Given the description of an element on the screen output the (x, y) to click on. 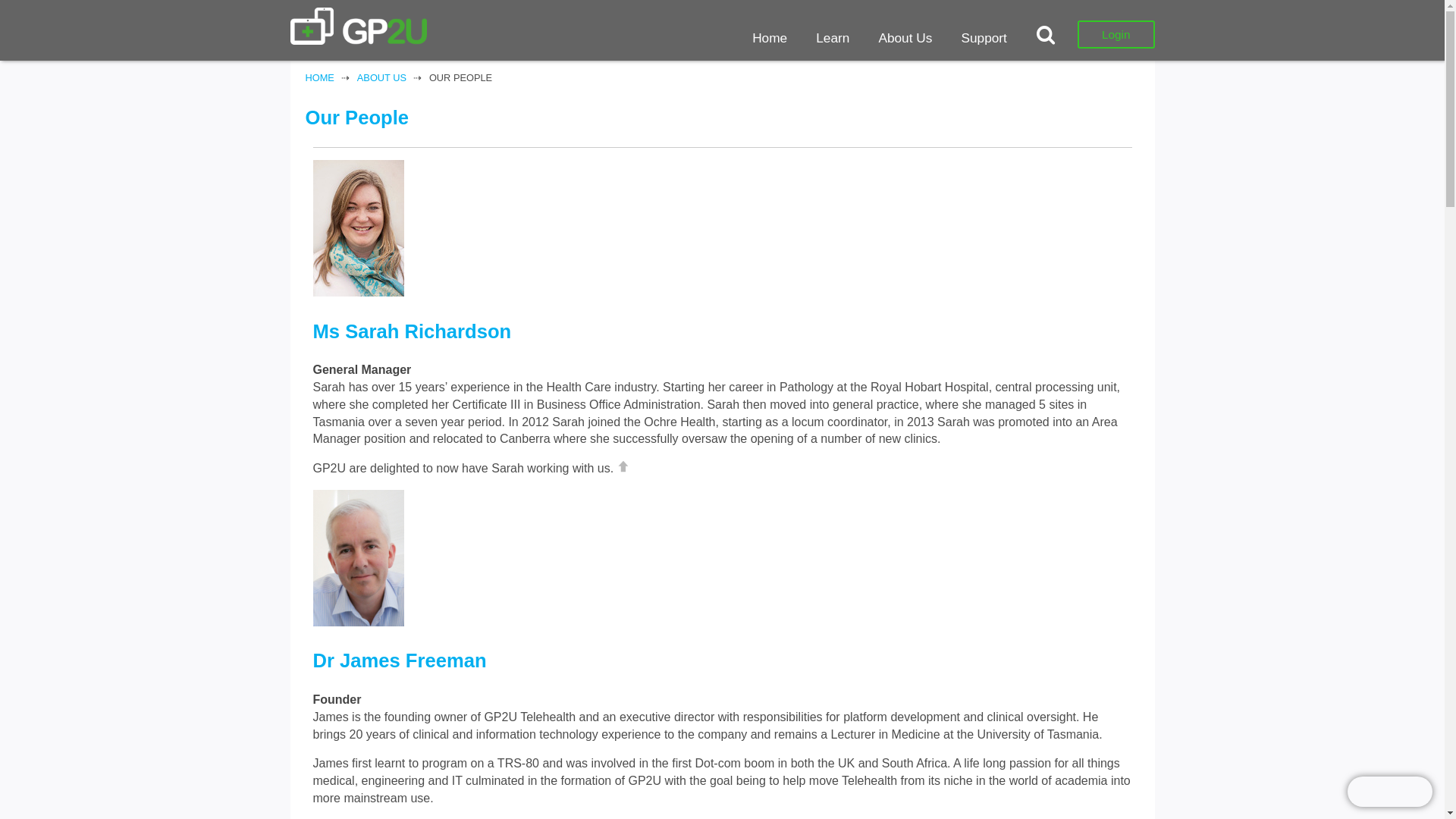
HOME (318, 77)
Login (1115, 34)
Learn (832, 37)
Home (770, 37)
About Us (904, 37)
ABOUT US (381, 77)
Click to search site (1049, 34)
Support (983, 37)
